Given the description of an element on the screen output the (x, y) to click on. 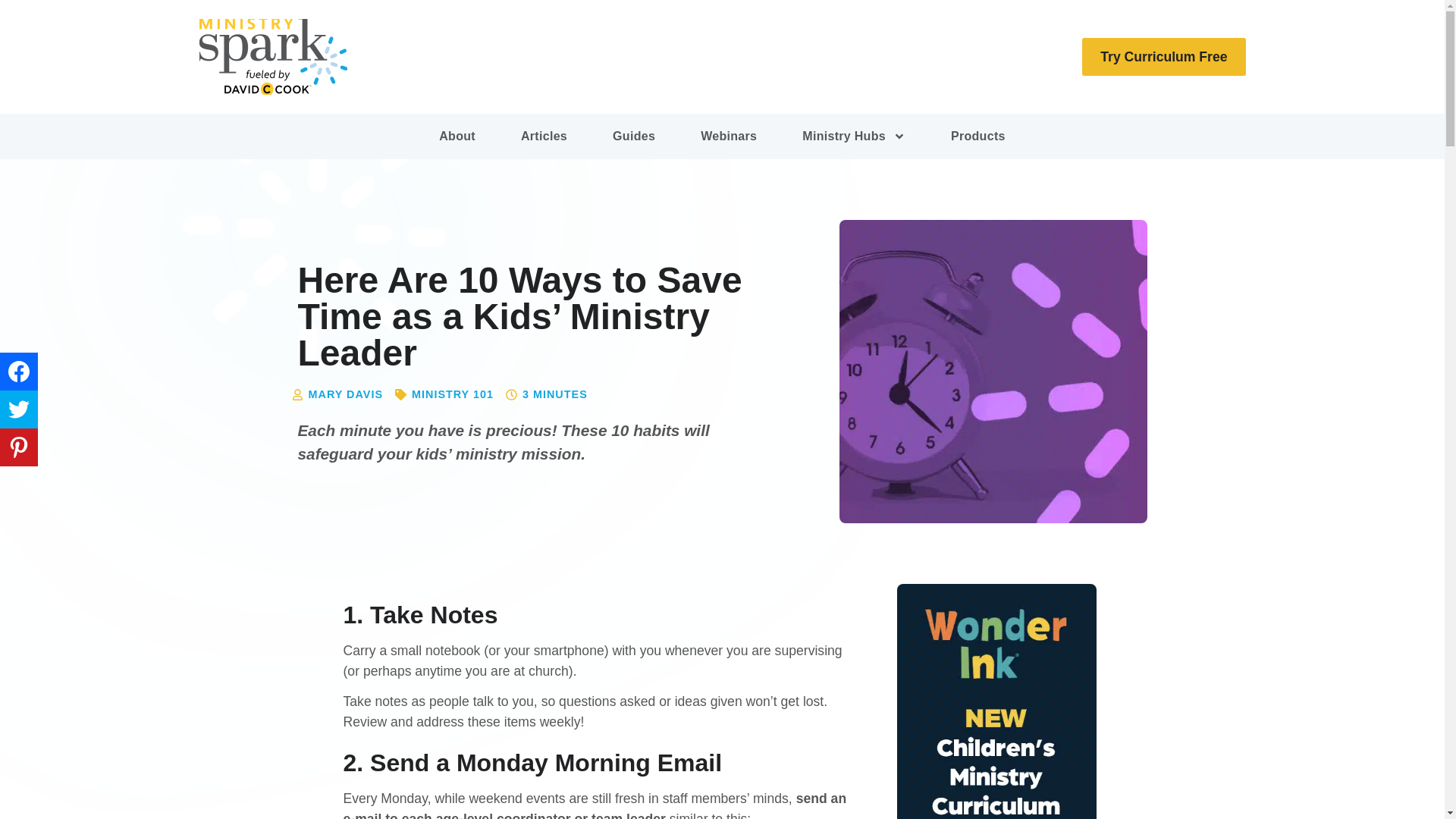
Share on Pin (18, 447)
Guides (633, 136)
cropped-ministry-spark-logo-by-DCC-color-900px.png (272, 56)
Share on Share (18, 371)
About (457, 136)
Try Curriculum Free (1162, 59)
Ministry Hubs (853, 136)
Articles (543, 136)
Webinars (728, 136)
Share on Tweet (18, 409)
Products (977, 136)
